Given the description of an element on the screen output the (x, y) to click on. 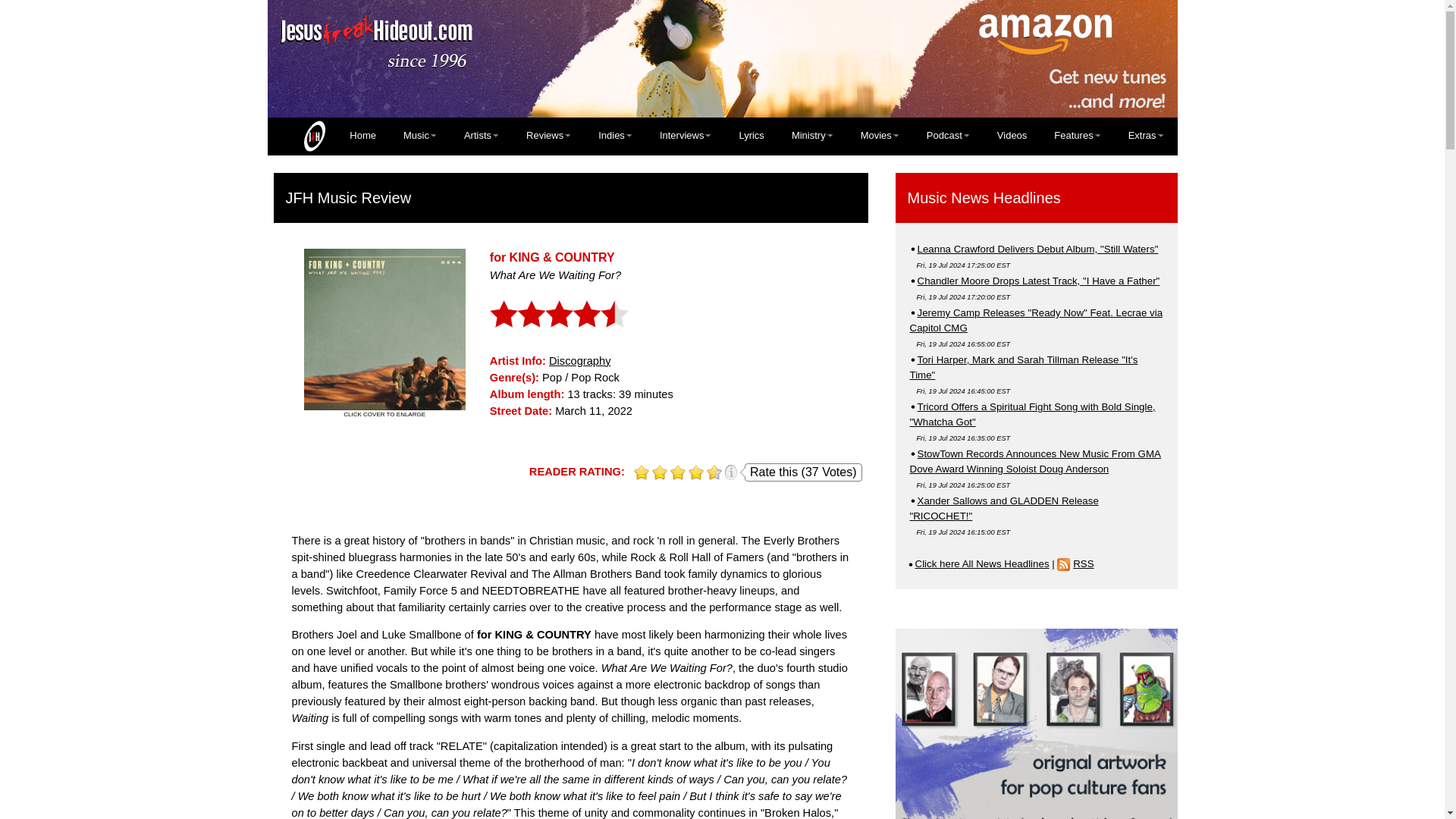
Artists (480, 135)
   Home (331, 136)
Music (419, 135)
